Given the description of an element on the screen output the (x, y) to click on. 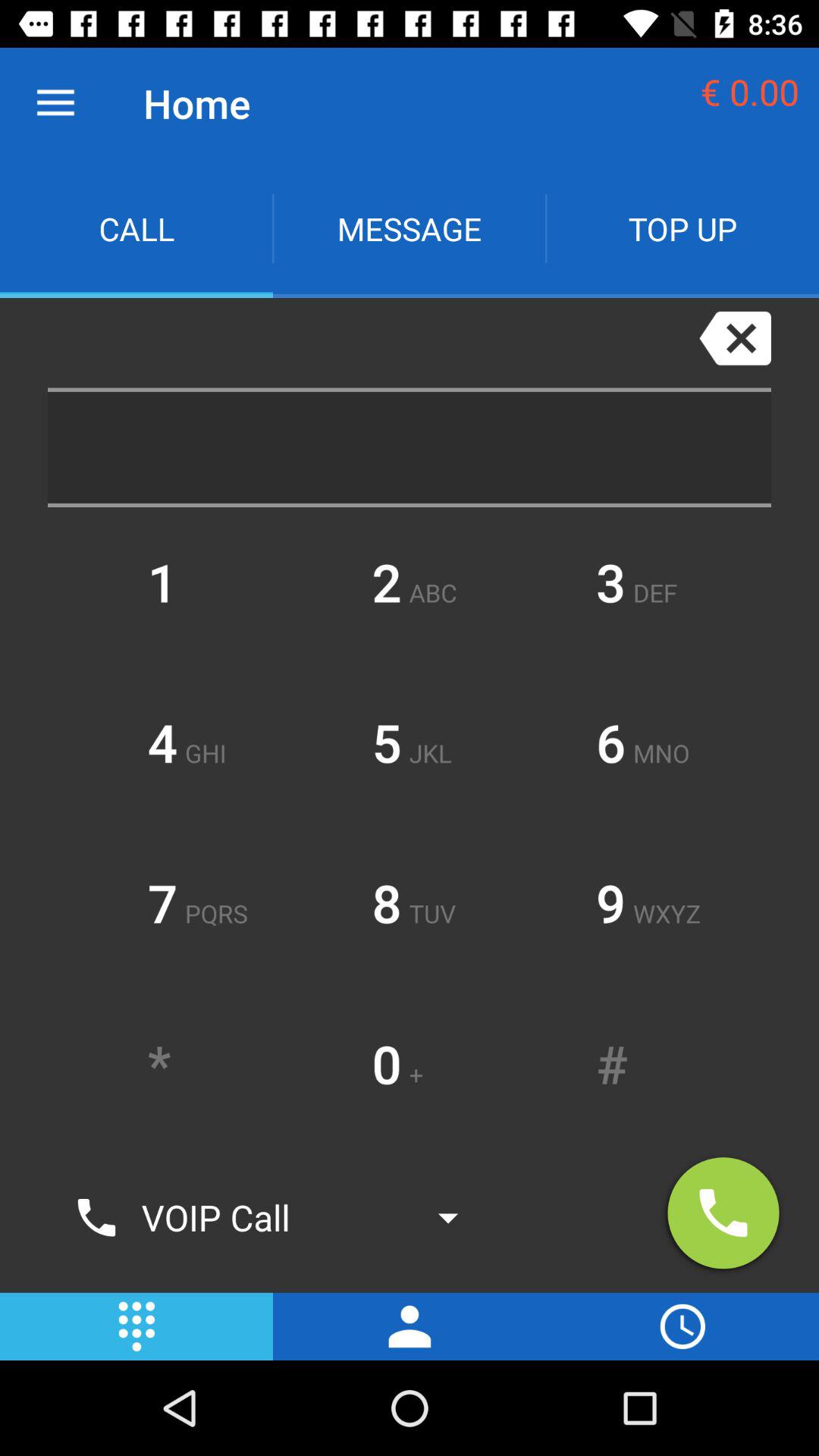
choose the item to the left of the home icon (55, 103)
